Given the description of an element on the screen output the (x, y) to click on. 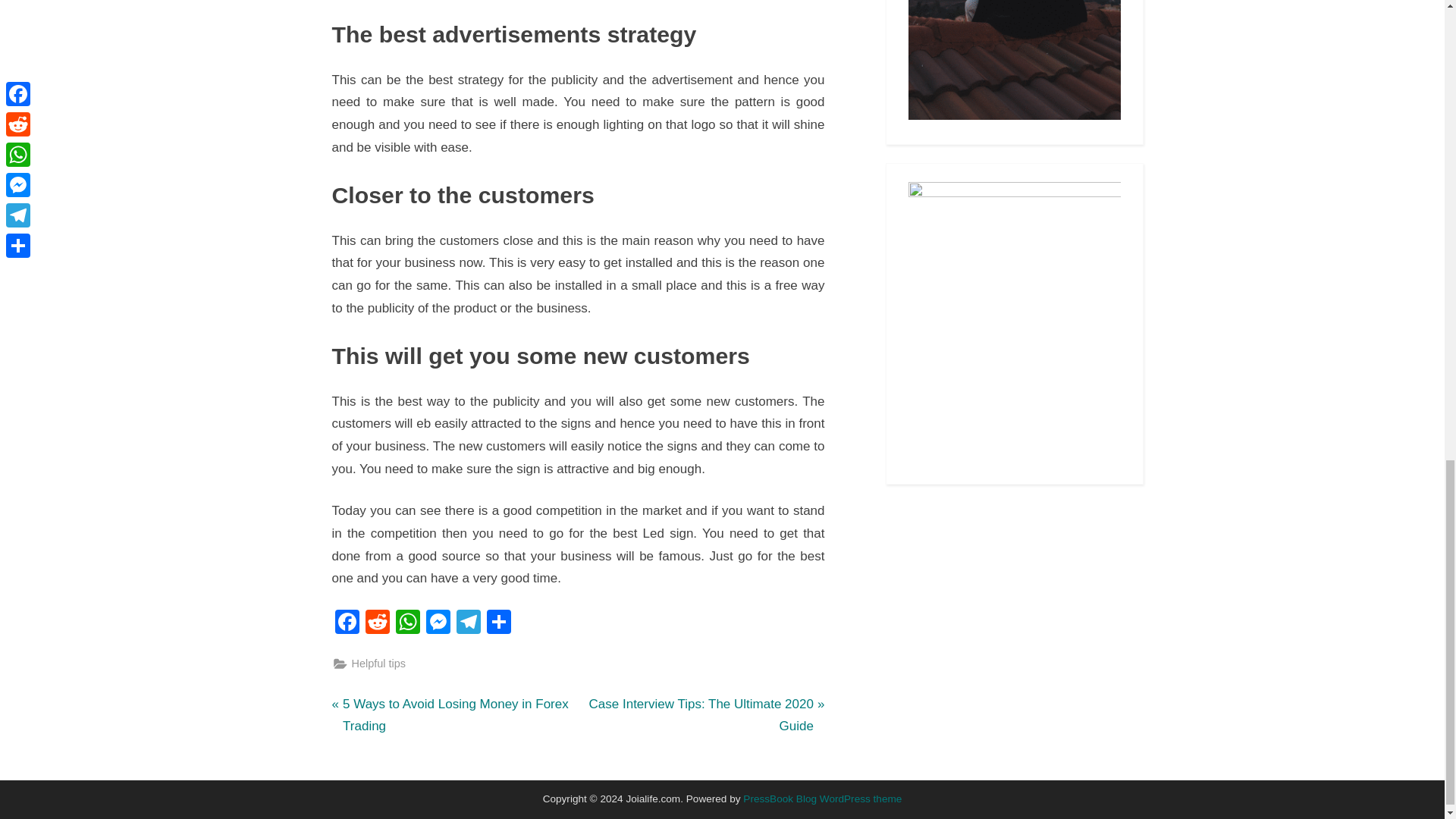
Helpful tips (379, 663)
Reddit (452, 715)
WhatsApp (377, 623)
Facebook (408, 623)
Reddit (346, 623)
Messenger (377, 623)
Messenger (437, 623)
Facebook (437, 623)
PressBook Blog WordPress theme (346, 623)
